Given the description of an element on the screen output the (x, y) to click on. 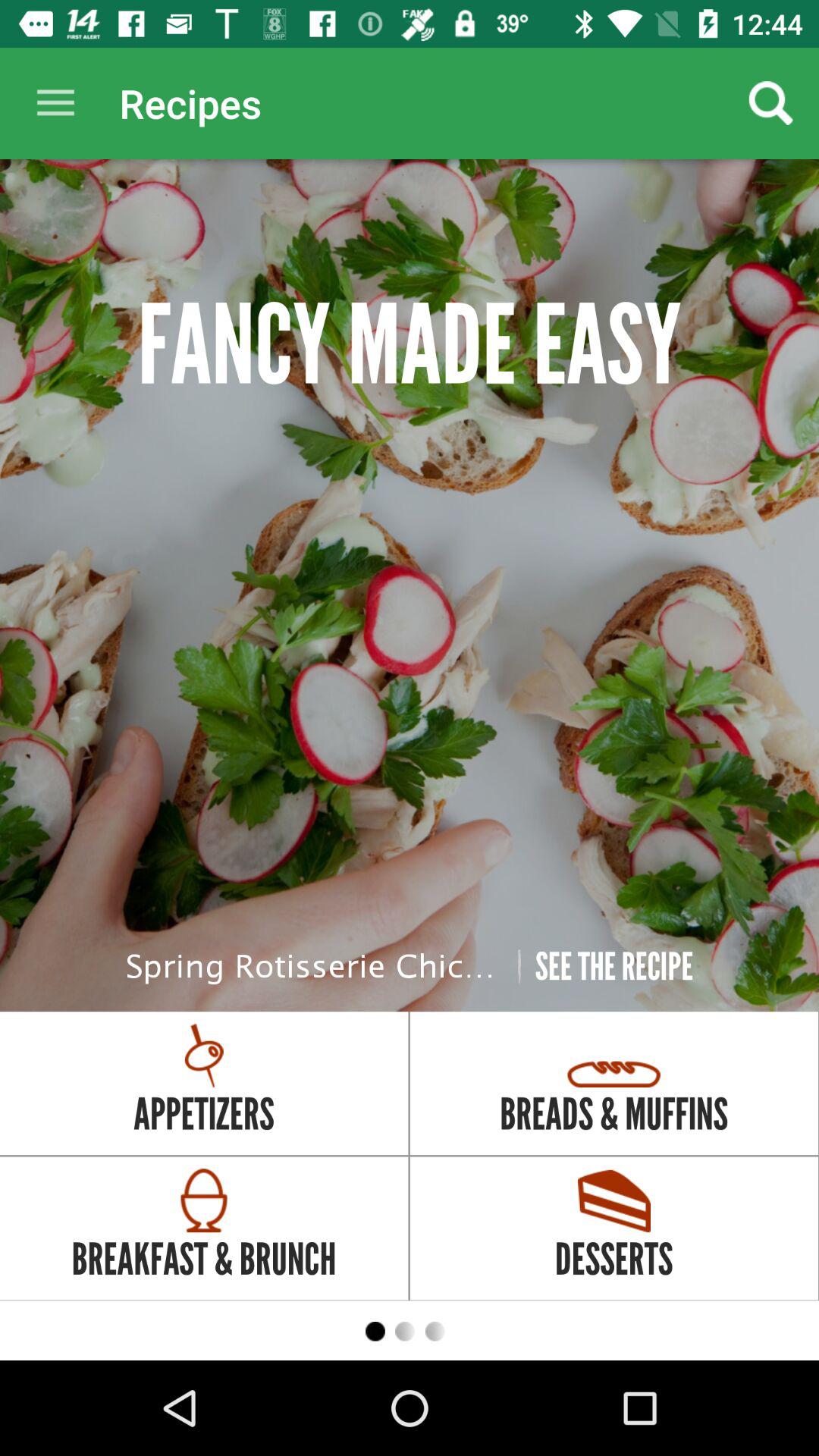
launch app to the left of the recipes icon (55, 103)
